Given the description of an element on the screen output the (x, y) to click on. 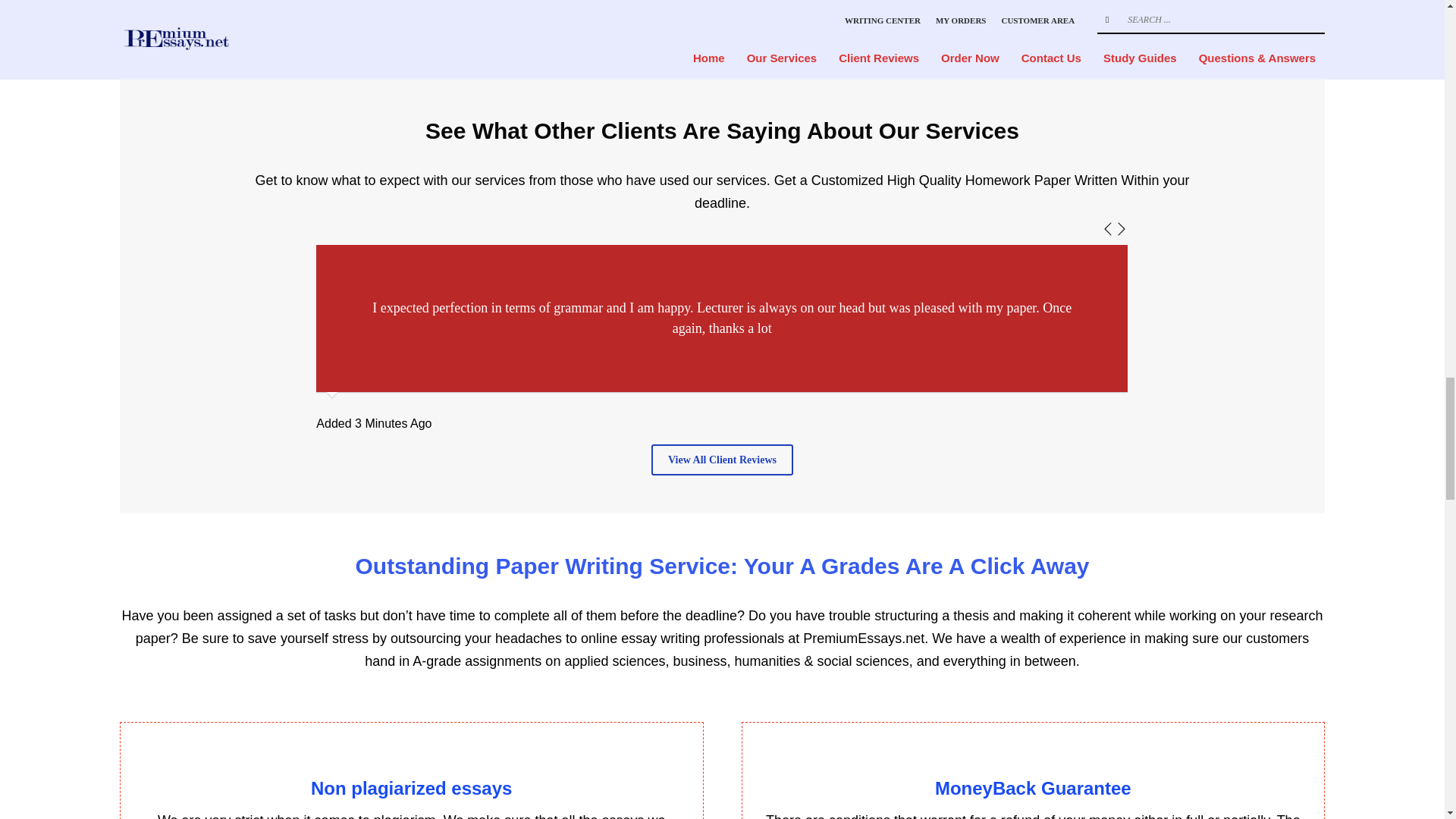
View All Client Reviews (721, 459)
